Given the description of an element on the screen output the (x, y) to click on. 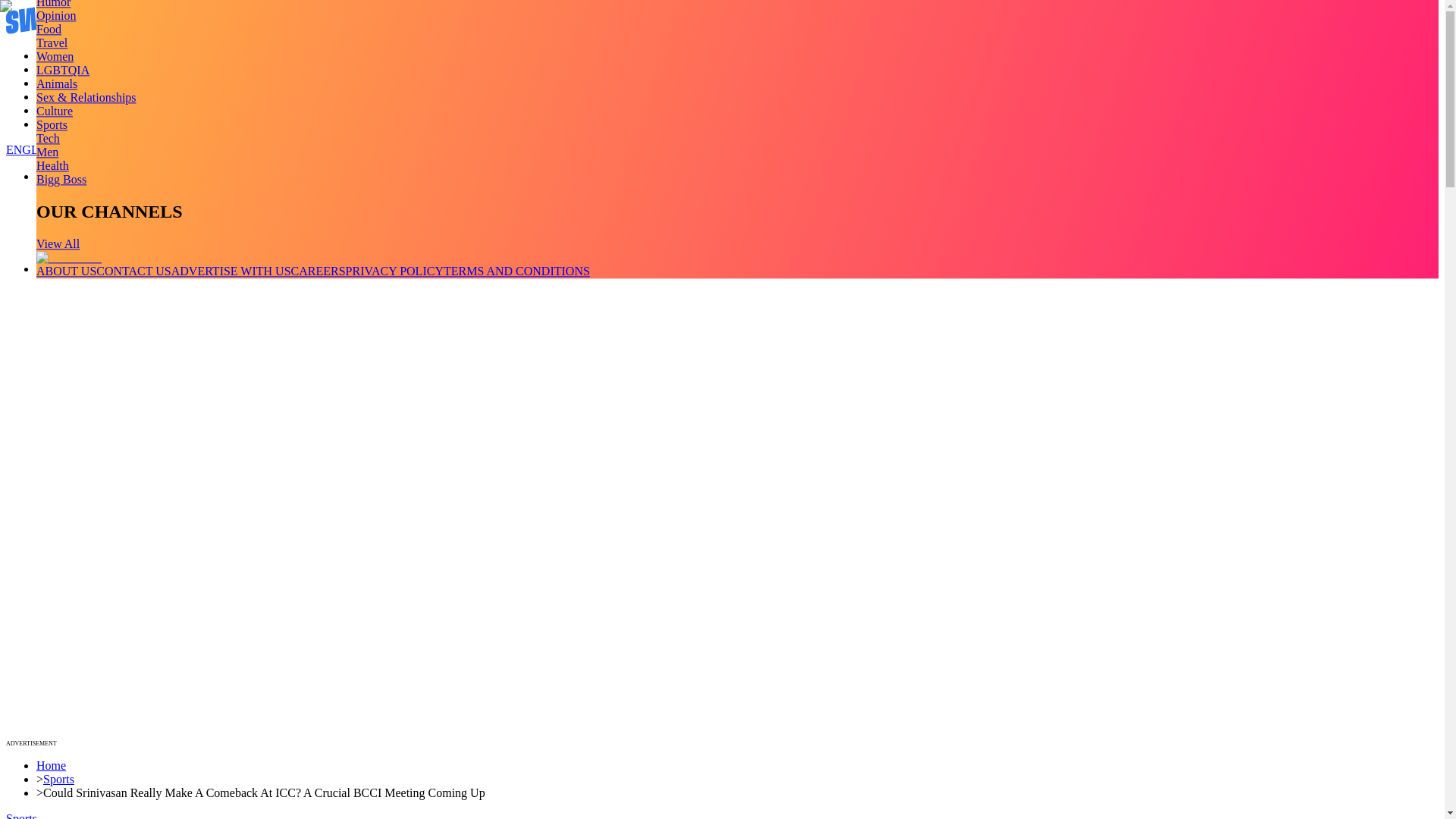
Sports (51, 124)
Culture (54, 110)
Women (55, 56)
Humor (52, 4)
Opinion (55, 15)
Travel (51, 42)
Tech (47, 137)
Health (52, 164)
Animals (56, 83)
LGBTQIA (62, 69)
Spotlight (58, 123)
Trending (58, 55)
ENGLISH (31, 149)
Quizzes (55, 96)
Videos (52, 69)
